Given the description of an element on the screen output the (x, y) to click on. 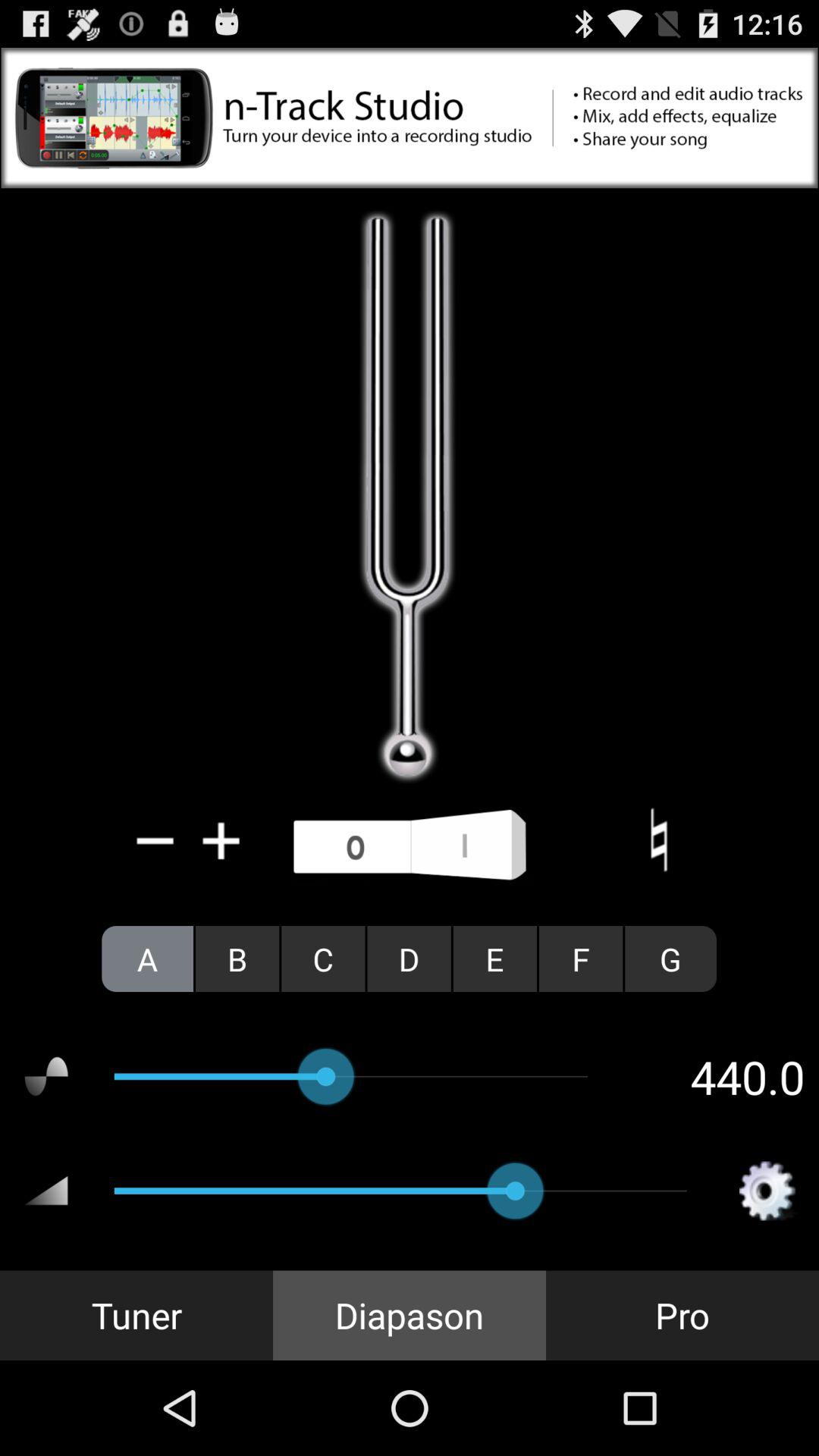
open f item (580, 958)
